Given the description of an element on the screen output the (x, y) to click on. 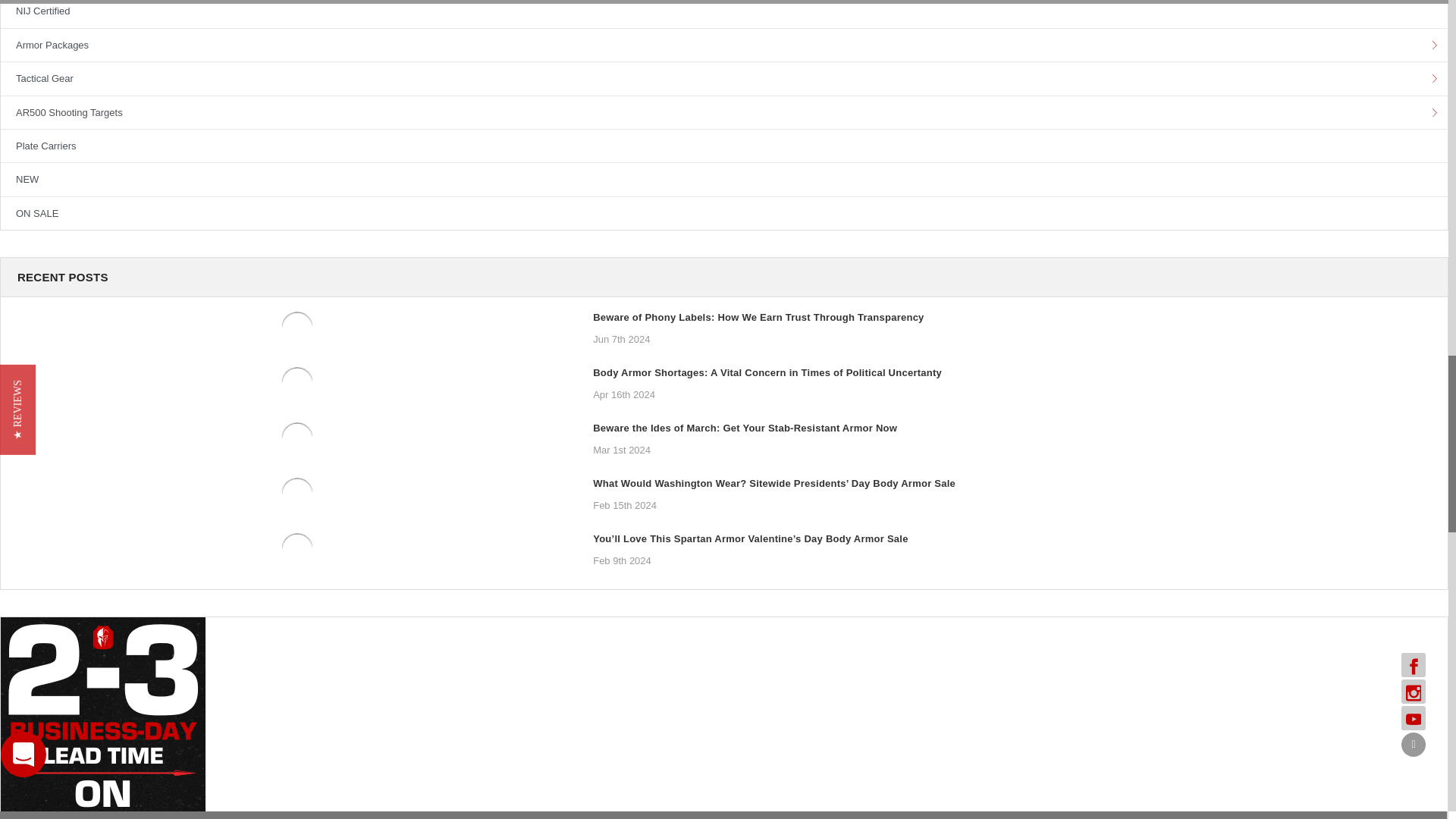
Plate Carriers (724, 145)
Beware the Ides of March: Get Your Stab-Resistant Armor Now (296, 438)
NIJ Certified (724, 13)
NEW (724, 178)
ON SALE (724, 213)
